Given the description of an element on the screen output the (x, y) to click on. 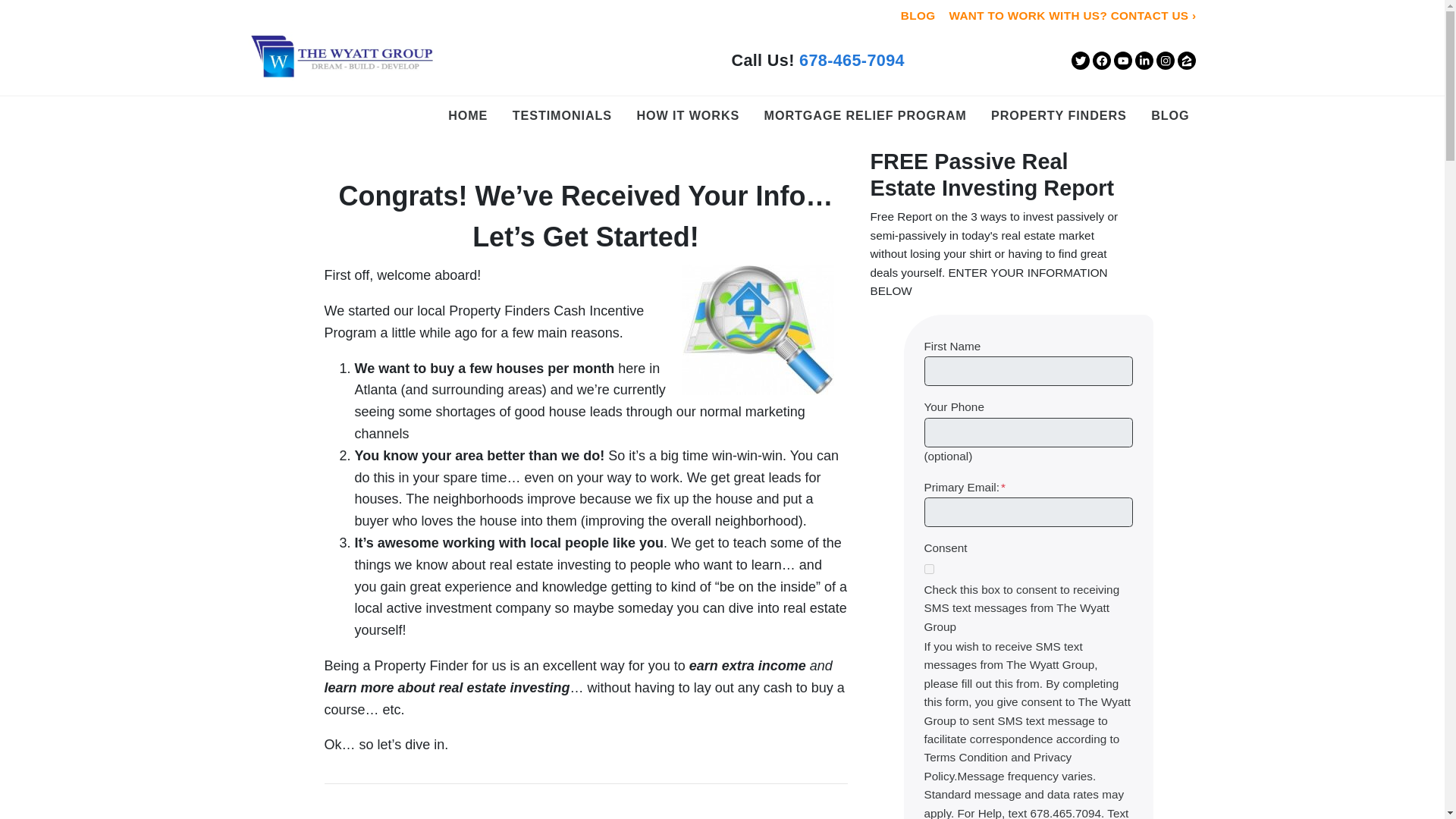
Instagram (1165, 60)
BLOG (1169, 115)
Mortgage Relief Program (865, 115)
HOME (468, 115)
Property Finders (1059, 115)
TESTIMONIALS (561, 115)
LinkedIn (1144, 60)
Blog (1169, 115)
Testimonials (561, 115)
PROPERTY FINDERS (1059, 115)
